Given the description of an element on the screen output the (x, y) to click on. 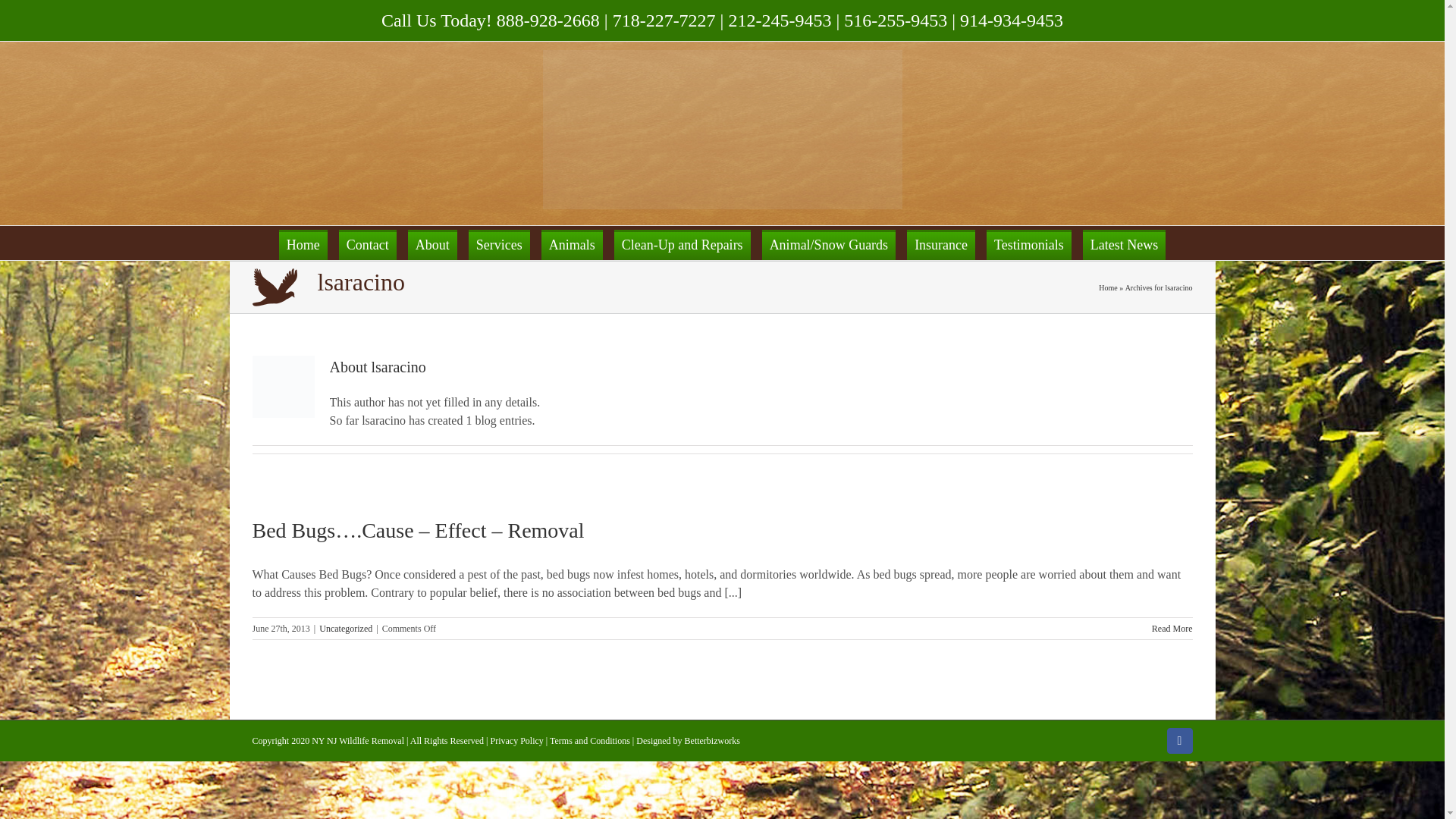
Insurance (941, 245)
Home (303, 245)
About (432, 245)
Contact (367, 245)
Latest News (1124, 245)
Animals (571, 245)
Services (498, 245)
Clean-Up and Repairs (682, 245)
Facebook (1179, 740)
Testimonials (1029, 245)
